Given the description of an element on the screen output the (x, y) to click on. 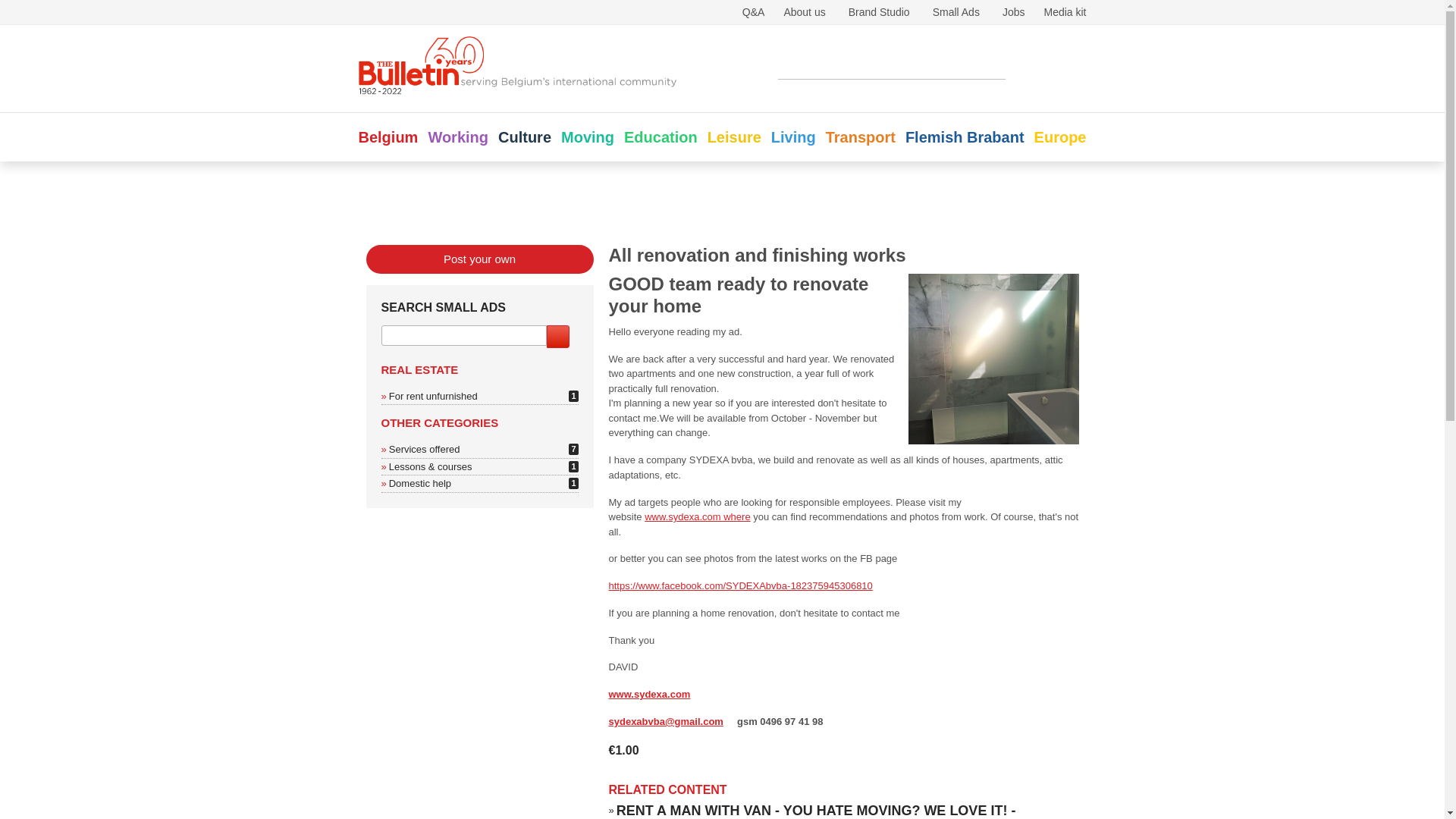
Media kit (1064, 11)
www.sydexa.com (649, 694)
Education (660, 136)
Enter the terms you wish to search for. (891, 67)
Search (1037, 67)
Living (419, 482)
Brand Studio (793, 136)
Culture (424, 449)
Leisure (879, 11)
Skip to main content (524, 136)
Home (734, 136)
